Given the description of an element on the screen output the (x, y) to click on. 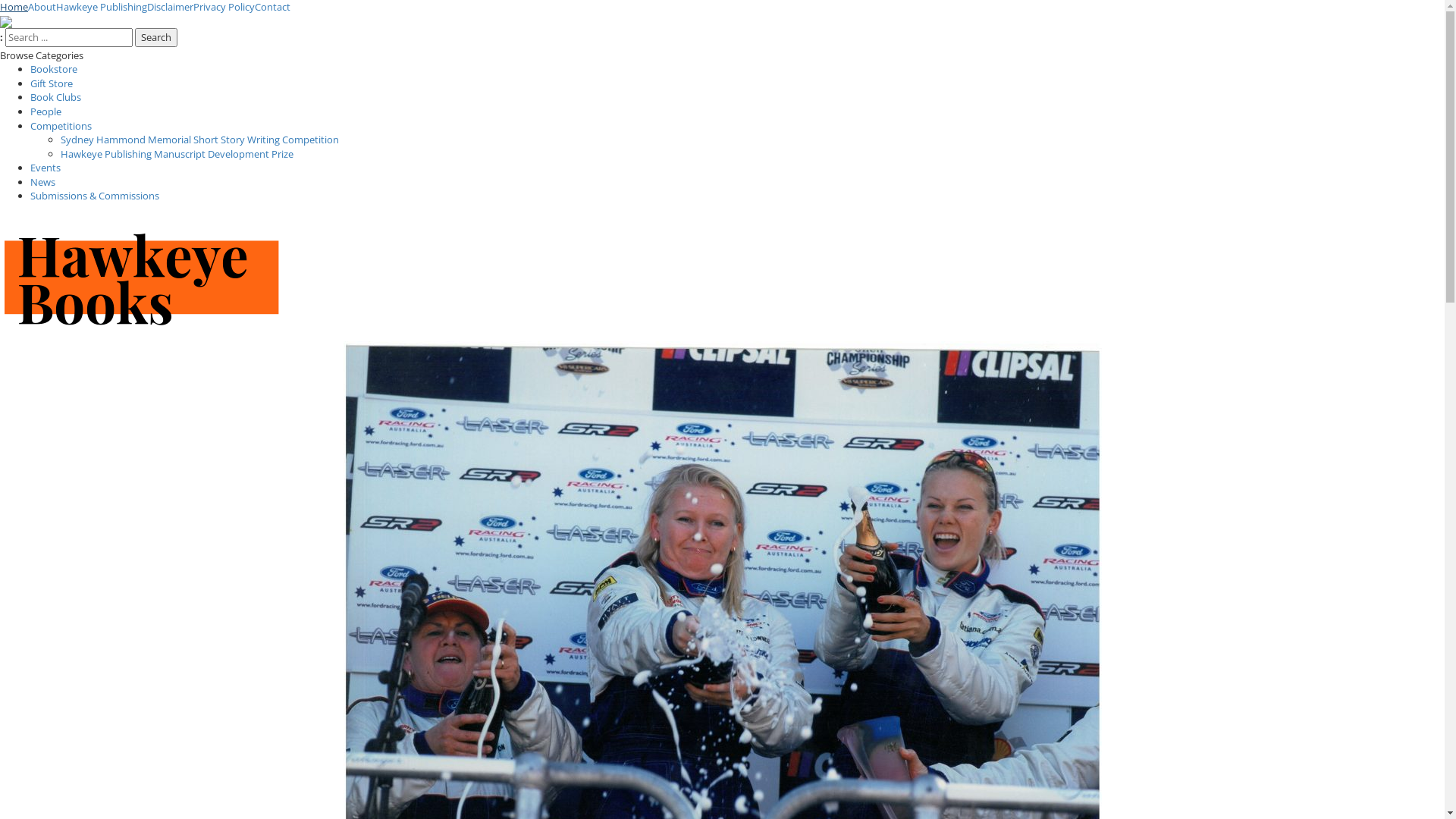
People Element type: text (45, 111)
Submissions & Commissions Element type: text (94, 195)
Hawkeye Publishing Manuscript Development Prize Element type: text (176, 153)
Bookstore Element type: text (53, 68)
Gift Store Element type: text (51, 83)
Sydney Hammond Memorial Short Story Writing Competition Element type: text (199, 139)
Events Element type: text (45, 167)
Hawkeye Publishing Element type: text (101, 6)
Book Clubs Element type: text (55, 96)
Privacy Policy Element type: text (223, 6)
Contact Element type: text (272, 6)
Search Element type: text (155, 37)
Disclaimer Element type: text (170, 6)
News Element type: text (42, 181)
Competitions Element type: text (60, 124)
Home Element type: text (14, 6)
About Element type: text (42, 6)
